Given the description of an element on the screen output the (x, y) to click on. 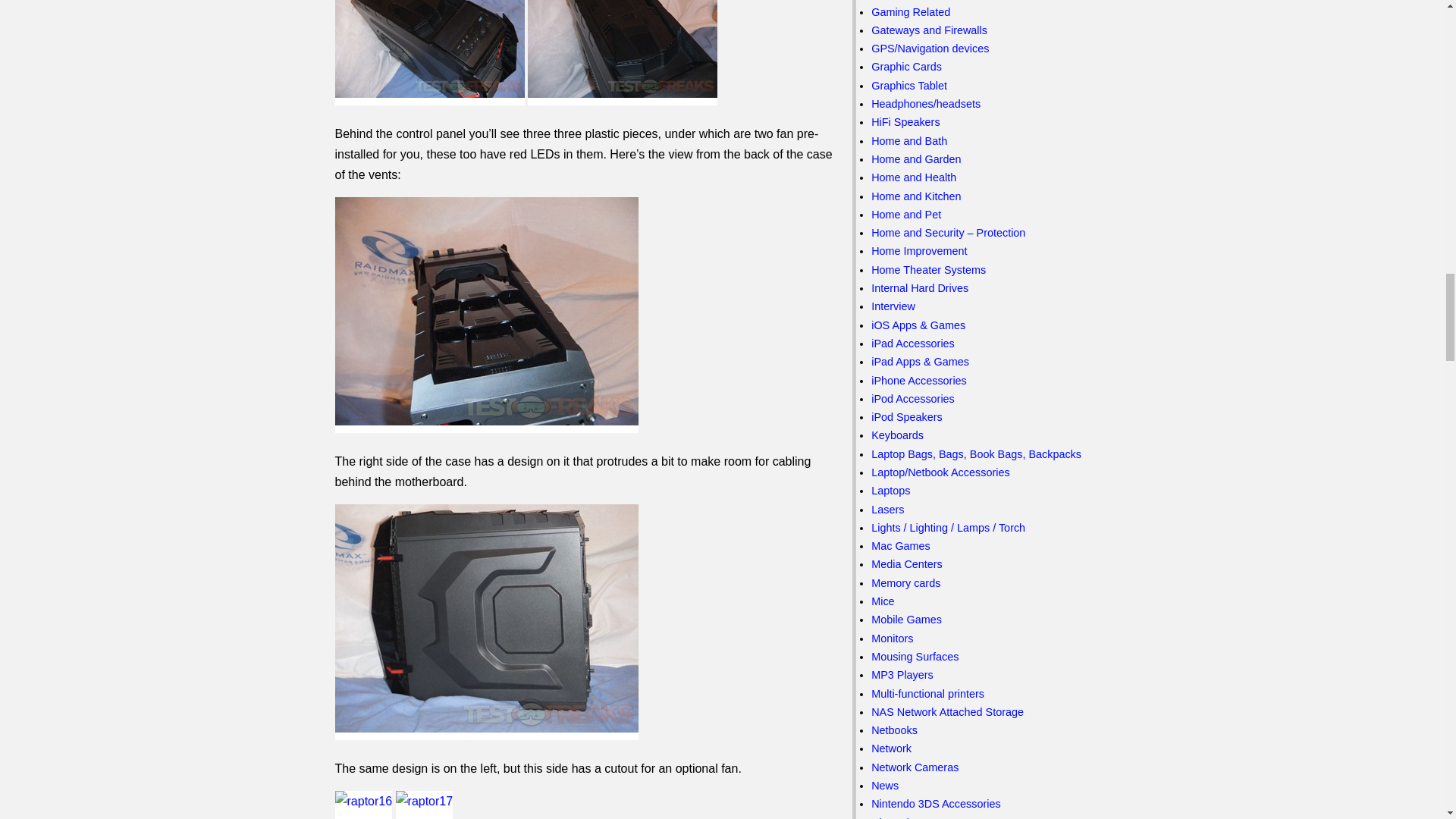
raptor10 (429, 52)
raptor14 (486, 315)
raptor15 (486, 622)
raptor11 (622, 52)
